Given the description of an element on the screen output the (x, y) to click on. 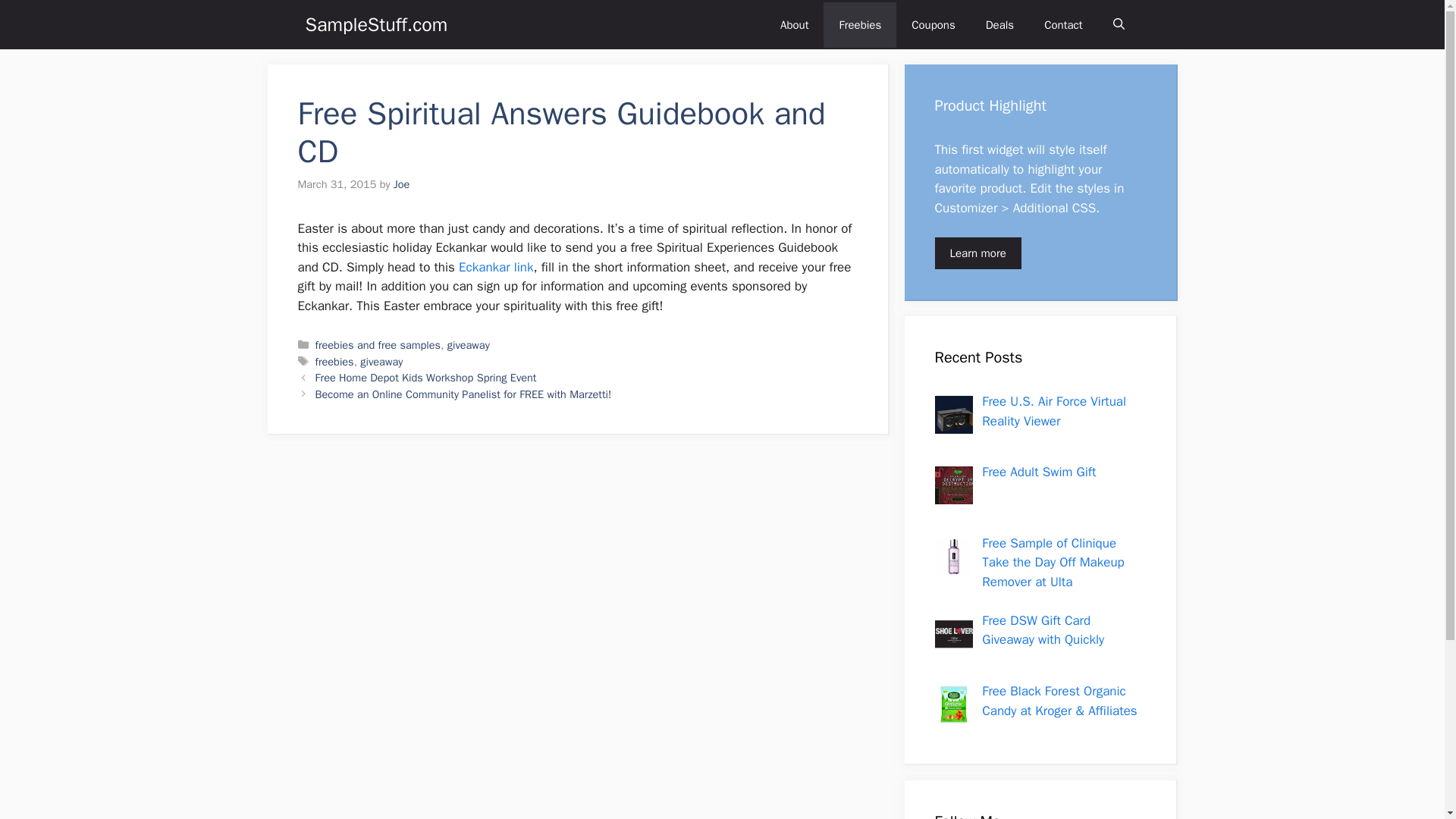
Deals (1000, 23)
freebies (334, 361)
Contact (1063, 23)
Free Home Depot Kids Workshop Spring Event (426, 377)
View all posts by Joe (401, 183)
Next (463, 394)
Learn more (977, 252)
Free U.S. Air Force Virtual Reality Viewer (1053, 411)
Eckankar link (495, 267)
giveaway (467, 345)
Free DSW Gift Card Giveaway with Quickly (1042, 630)
Coupons (933, 23)
freebies and free samples (378, 345)
Free Adult Swim Gift (1038, 471)
SampleStuff.com (375, 24)
